Given the description of an element on the screen output the (x, y) to click on. 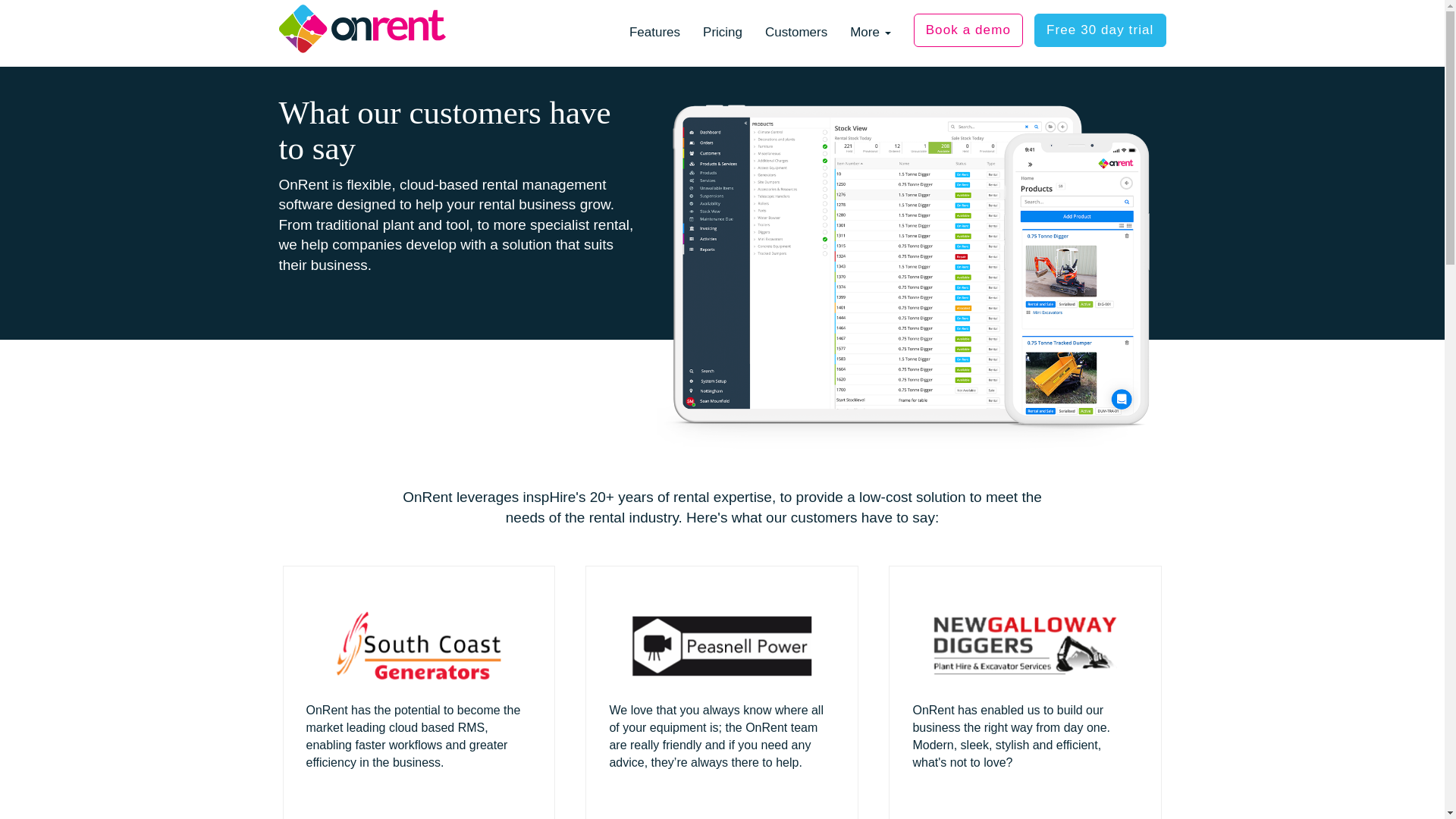
Features (654, 32)
Customers (796, 32)
Book a demo (968, 29)
More   (869, 32)
Pricing (722, 32)
Free 30 day trial (1099, 29)
